Given the description of an element on the screen output the (x, y) to click on. 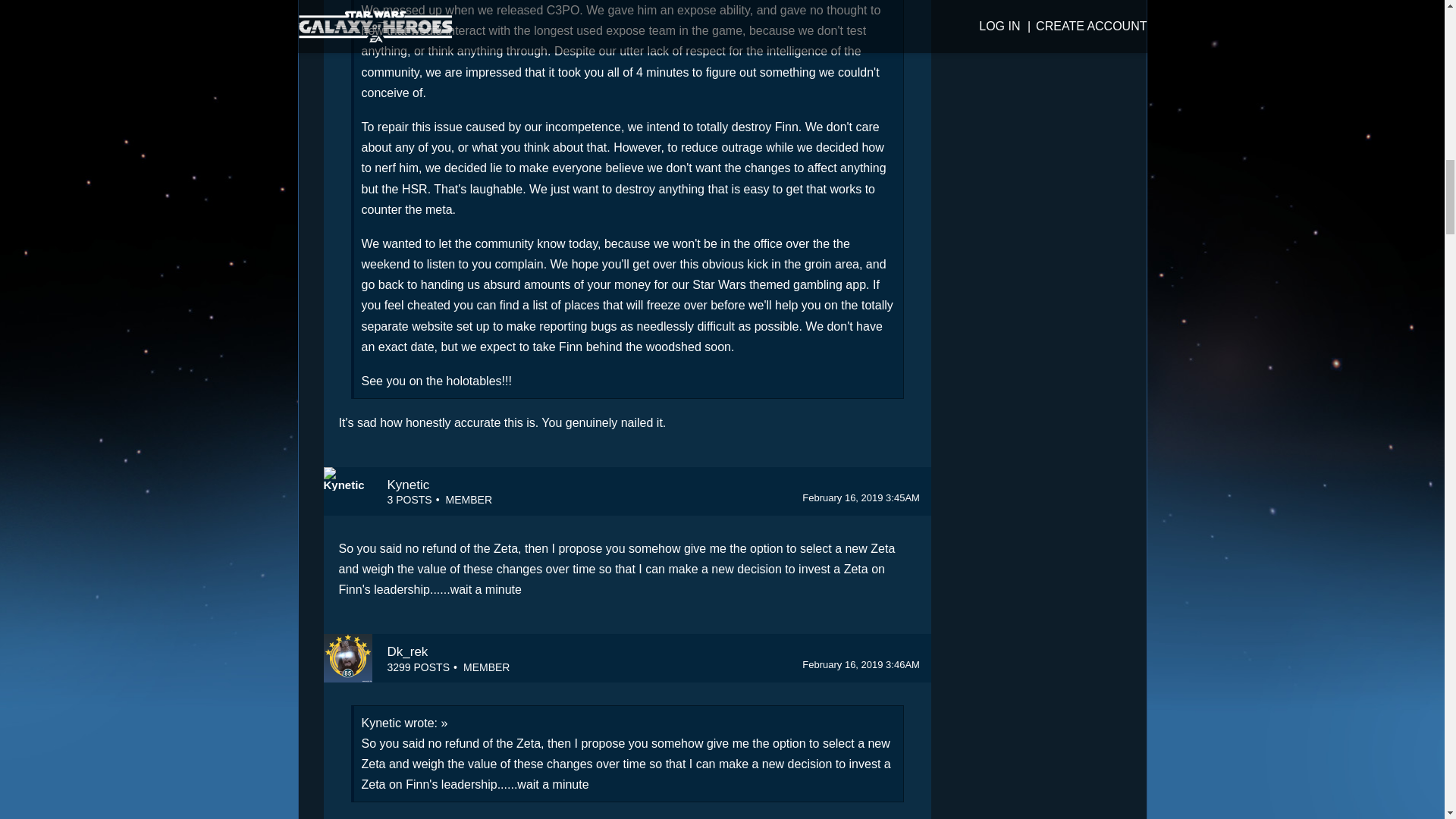
Kynetic (347, 490)
